Given the description of an element on the screen output the (x, y) to click on. 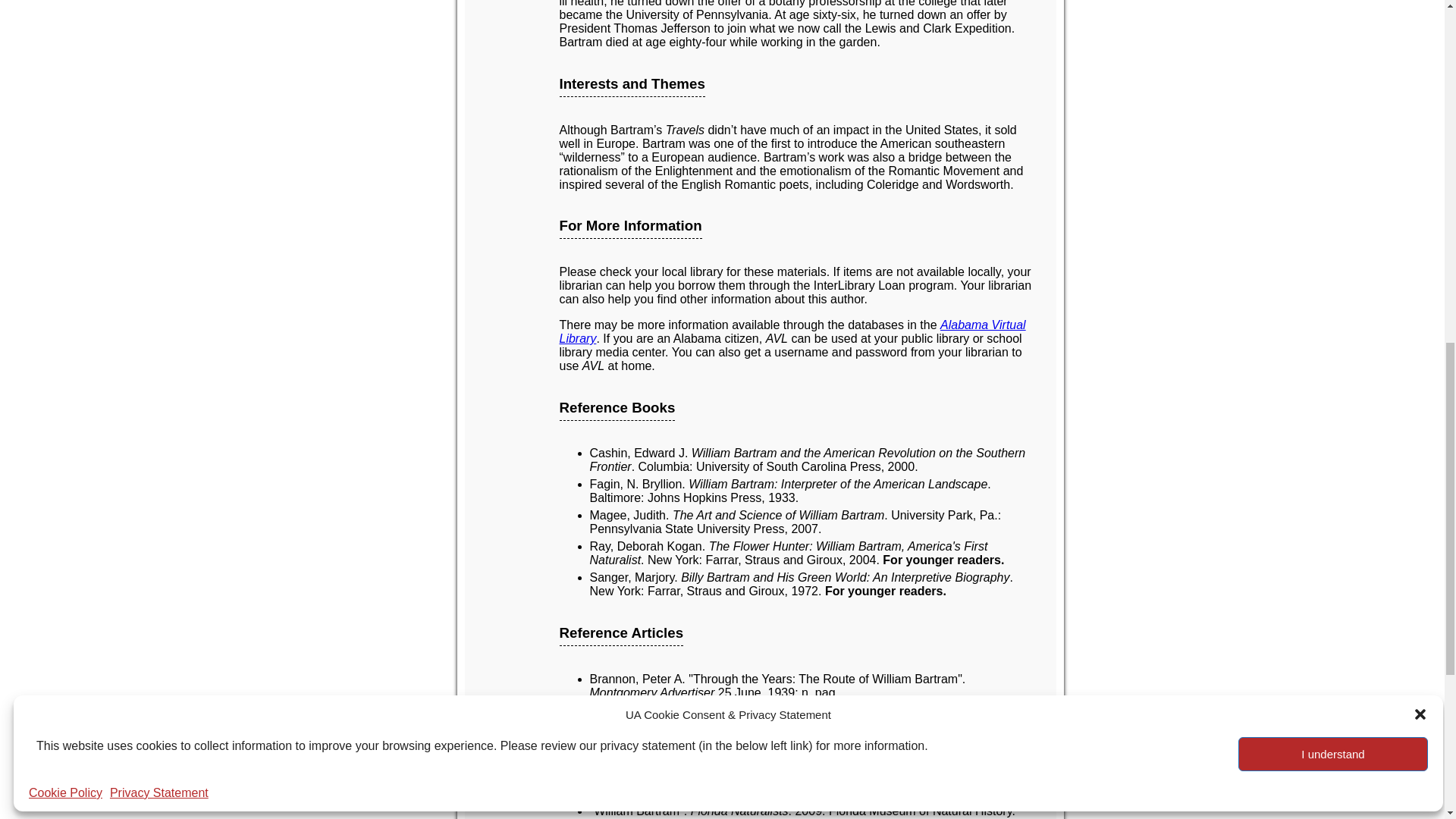
Alabama Virtual Library (792, 331)
